Given the description of an element on the screen output the (x, y) to click on. 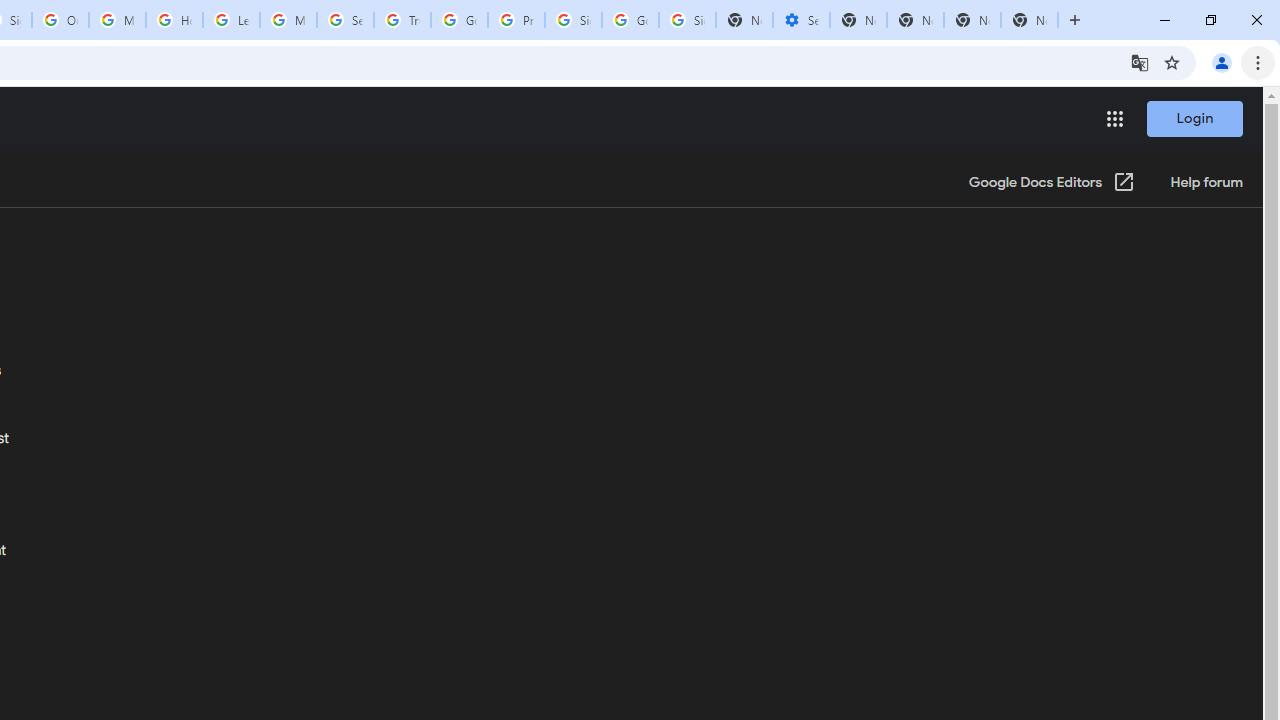
Help forum (1205, 183)
Settings - Performance (801, 20)
Google Docs Editors (Opens in new window) (1051, 183)
Search our Doodle Library Collection - Google Doodles (345, 20)
Login (1194, 118)
Translate this page (1139, 62)
Sign in - Google Accounts (573, 20)
